Given the description of an element on the screen output the (x, y) to click on. 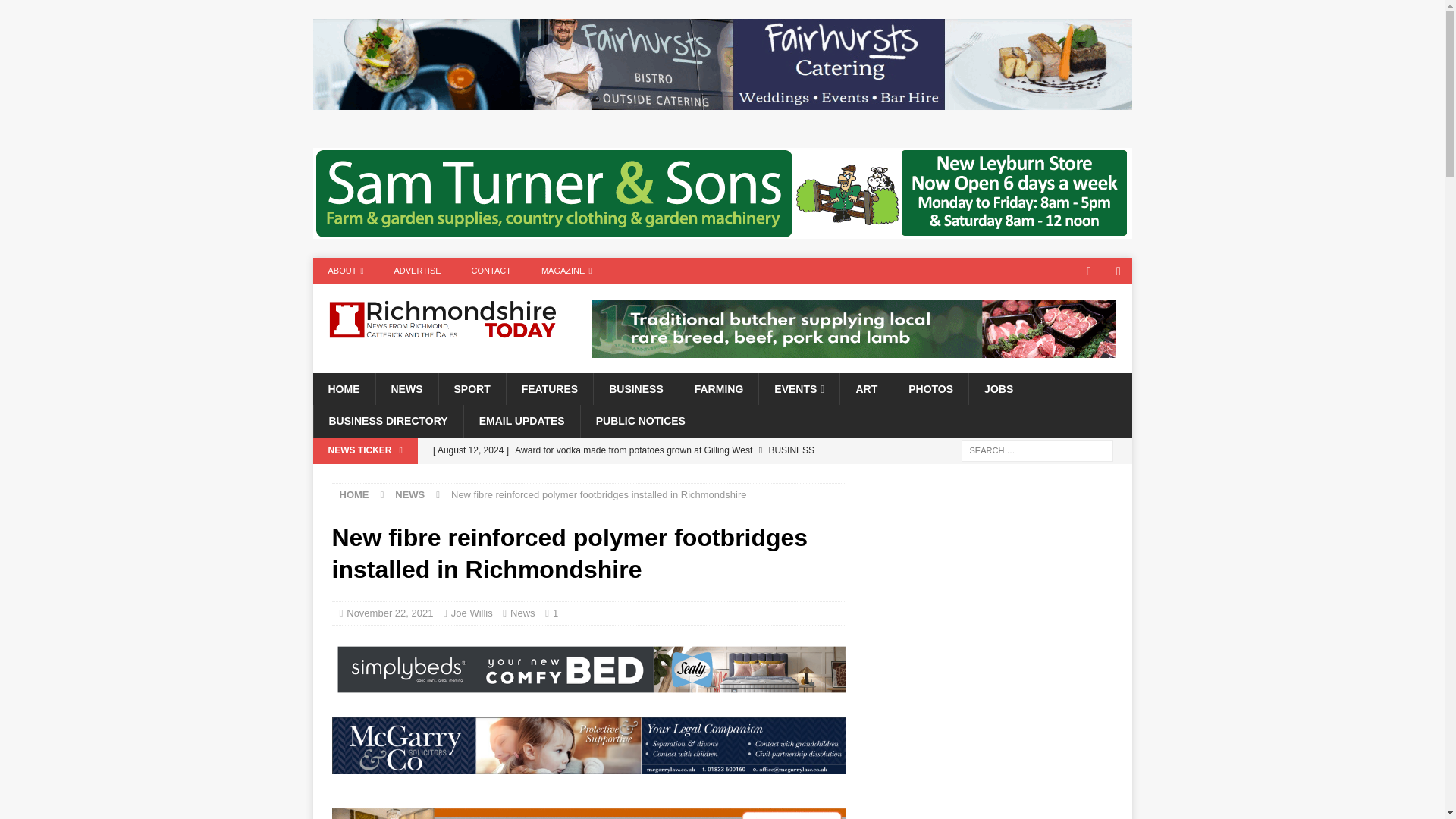
Richmondshire lift first silverware of season (634, 475)
MAGAZINE (566, 270)
ABOUT (345, 270)
EVENTS (799, 388)
BUSINESS DIRECTORY (388, 420)
ADVERTISE (416, 270)
SPORT (471, 388)
EMAIL UPDATES (521, 420)
PHOTOS (930, 388)
ART (866, 388)
